Given the description of an element on the screen output the (x, y) to click on. 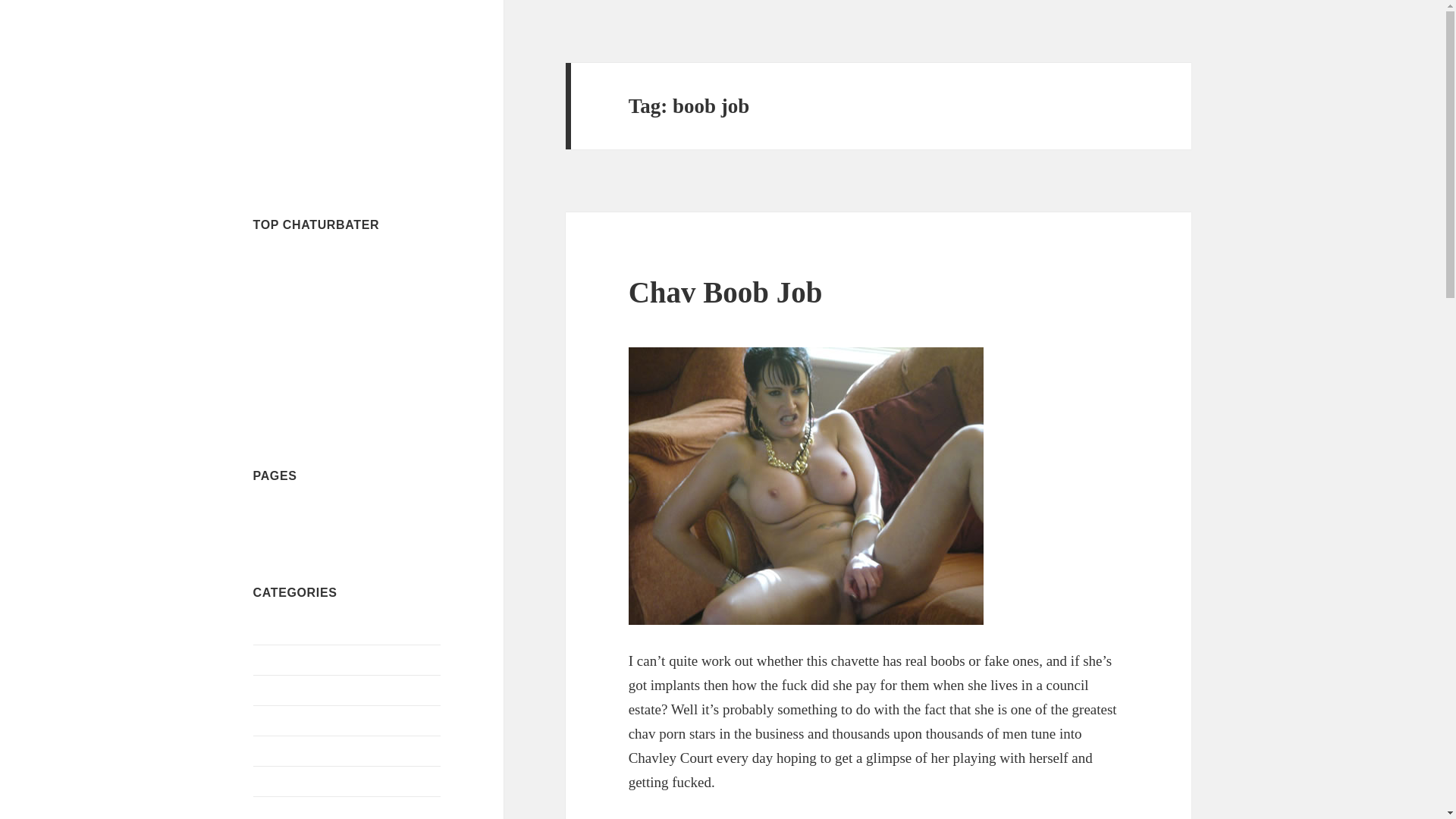
Fucking skanks (291, 689)
Contact Us (280, 512)
MILF sluts (280, 749)
Snapchat Selfies (293, 780)
Chav Skanks (285, 658)
Teen Slags (279, 810)
Council estate skanks (323, 86)
Cam Girls (277, 628)
Lesbian chavs (287, 719)
